Given the description of an element on the screen output the (x, y) to click on. 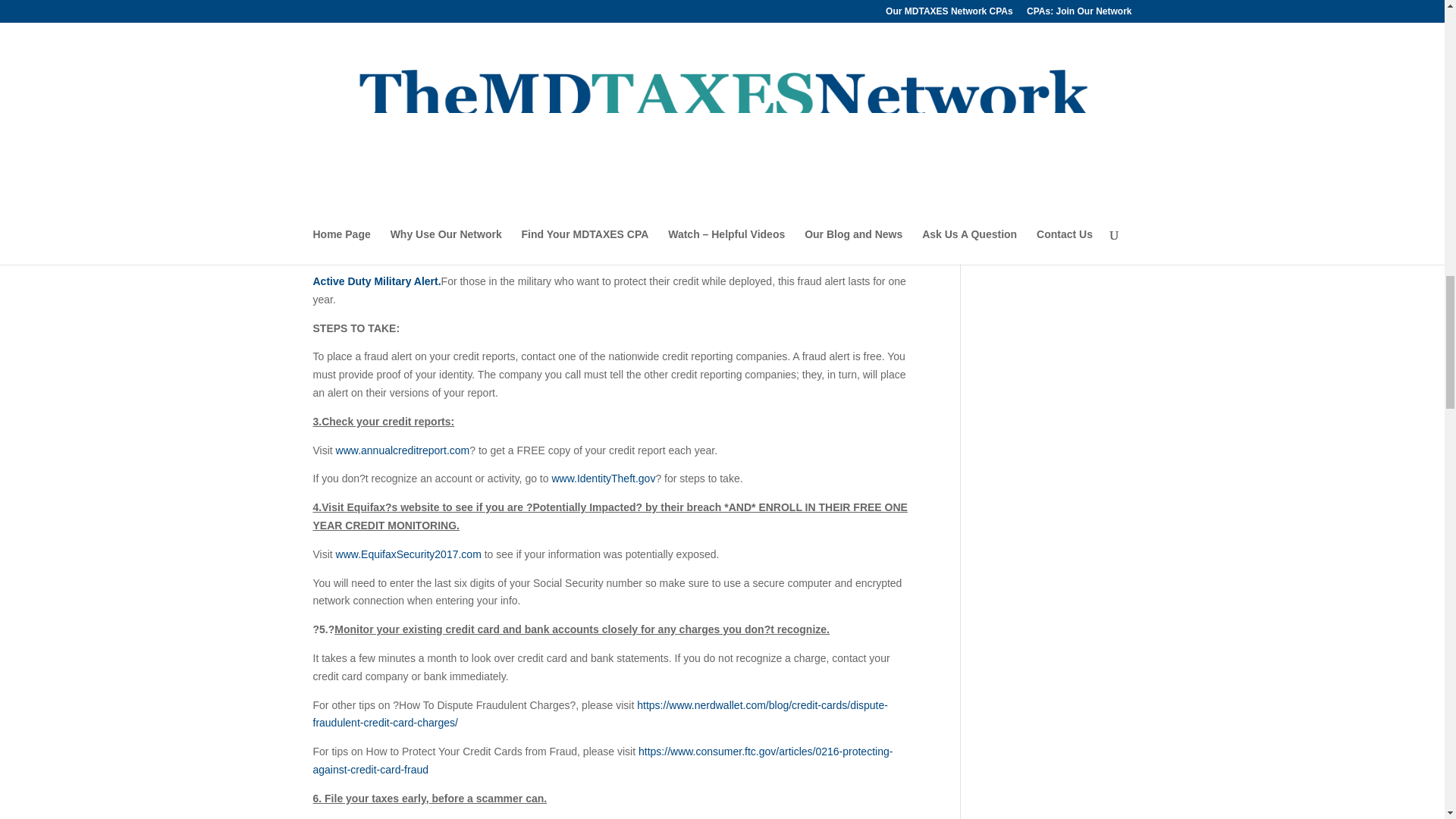
www.IdentityTheft.gov (603, 478)
www.EquifaxSecurity2017.com (408, 553)
Extended Fraud Alert. (367, 252)
Initial Fraud Alert. (358, 187)
Active Duty Military Alert. (377, 281)
www.annualcreditreport.com (403, 450)
